Given the description of an element on the screen output the (x, y) to click on. 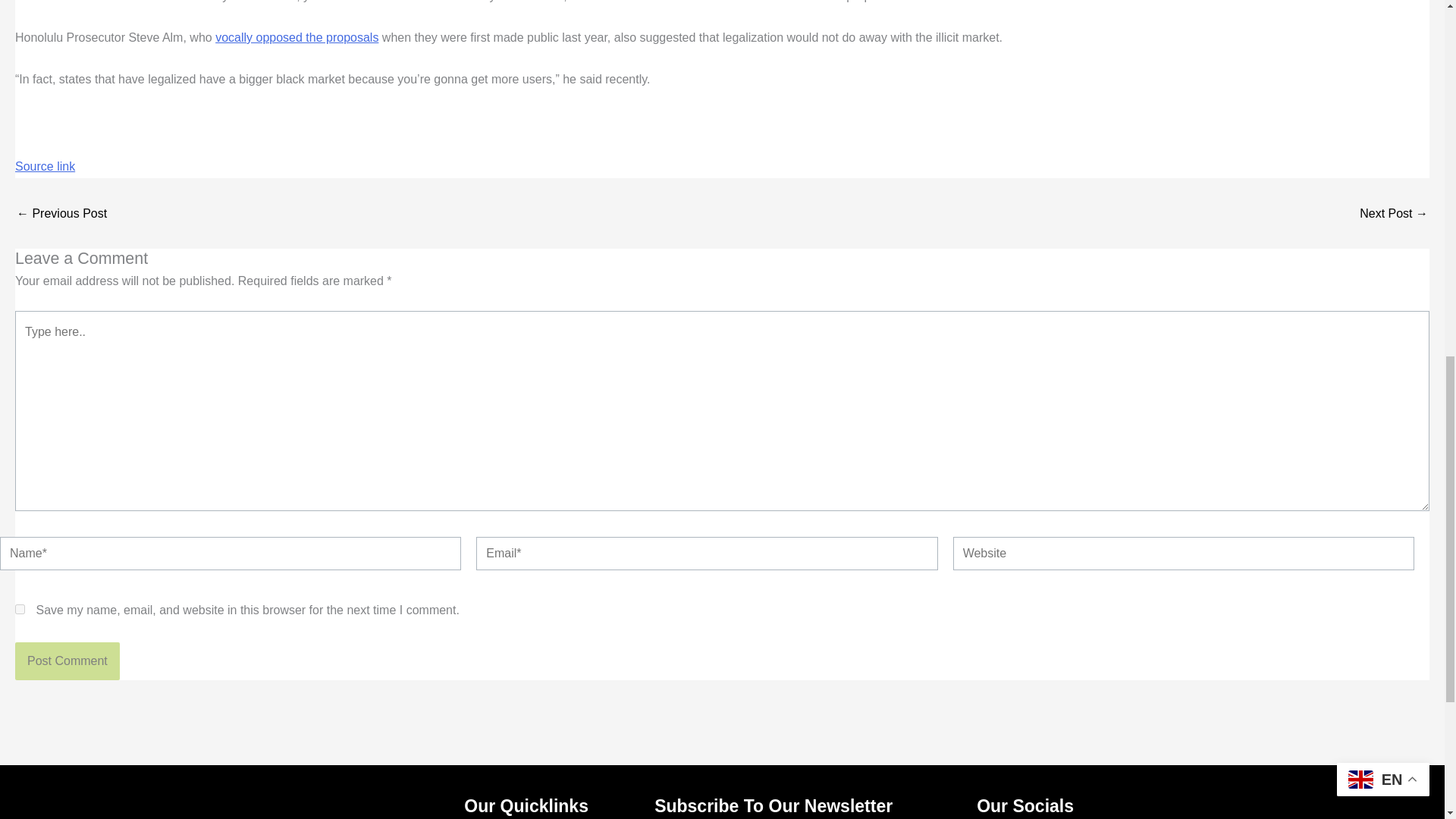
vocally opposed the proposals (296, 37)
yes (19, 609)
Post Comment (66, 660)
